Given the description of an element on the screen output the (x, y) to click on. 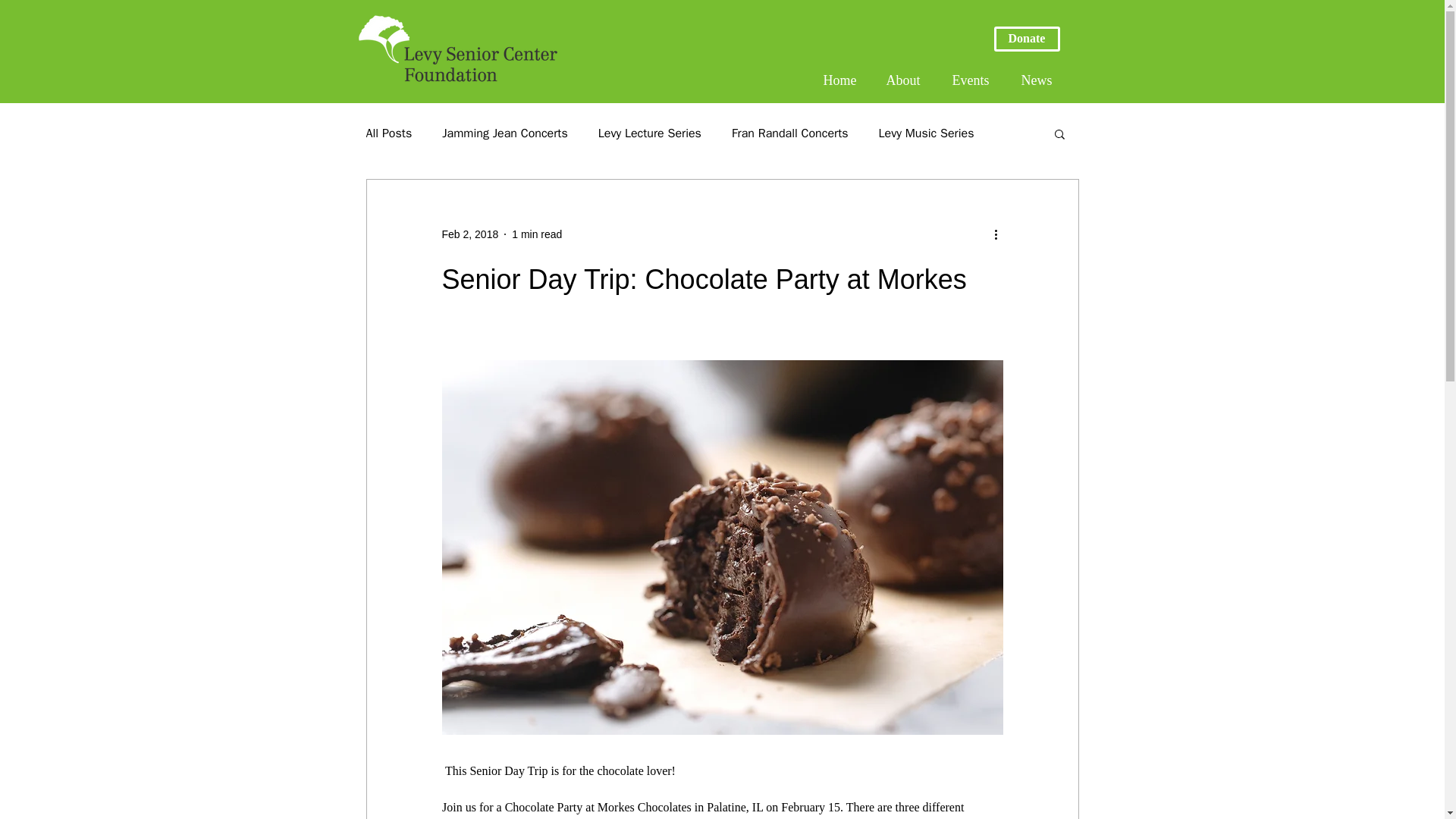
Jamming Jean Concerts (504, 133)
Levy Lecture Series (649, 133)
1 min read (537, 233)
Events (974, 80)
All Posts (388, 133)
Home (842, 80)
Donate (1025, 38)
Levy Music Series (926, 133)
Feb 2, 2018 (469, 233)
About (907, 80)
News (1040, 80)
Fran Randall Concerts (790, 133)
